Given the description of an element on the screen output the (x, y) to click on. 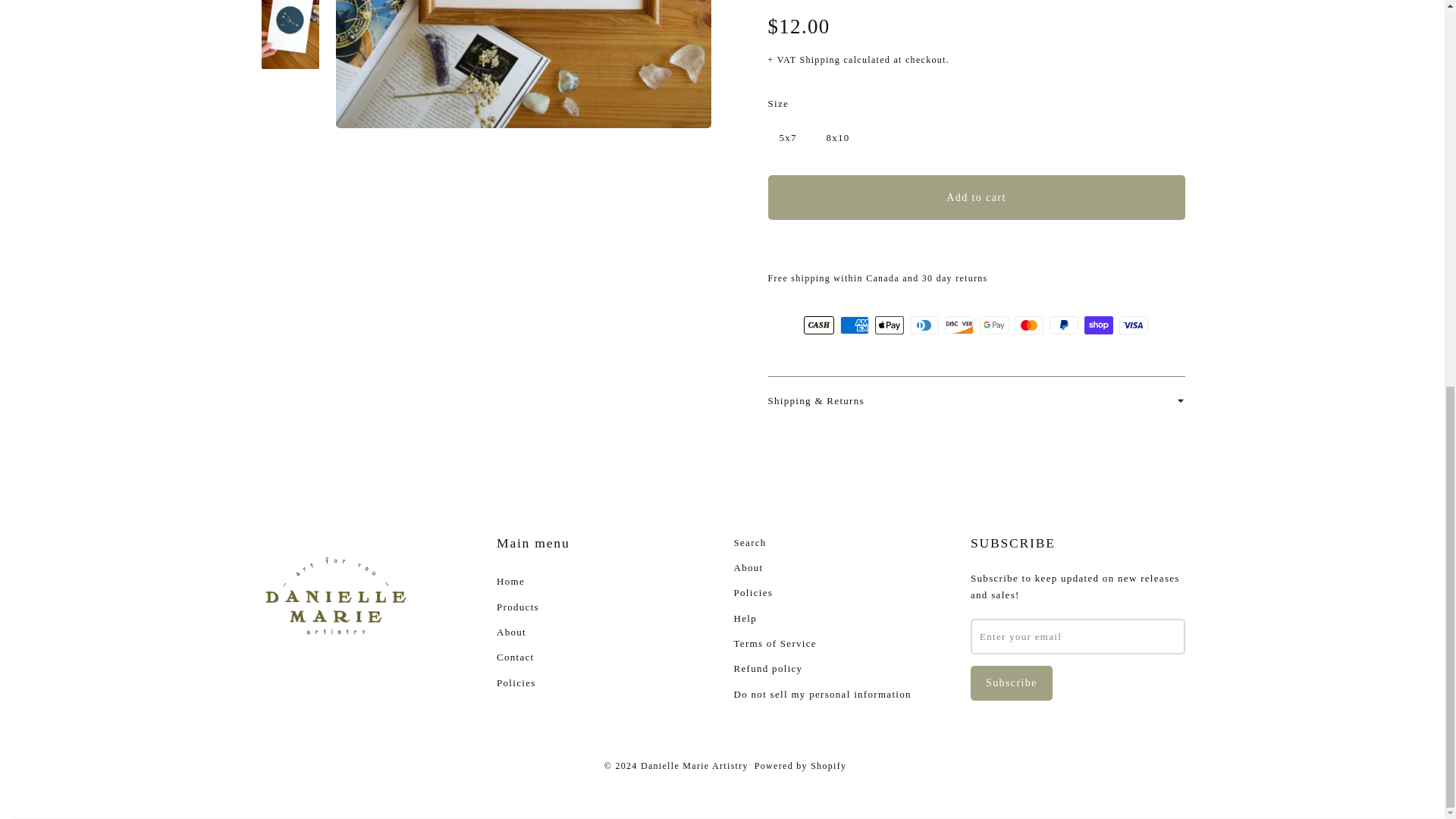
Shop Pay (1098, 325)
Visa (1133, 325)
Mastercard (1028, 325)
American Express (854, 325)
Apple Pay (889, 325)
Discover (959, 325)
Diners Club (924, 325)
Google Pay (994, 325)
PayPal (1063, 325)
